Given the description of an element on the screen output the (x, y) to click on. 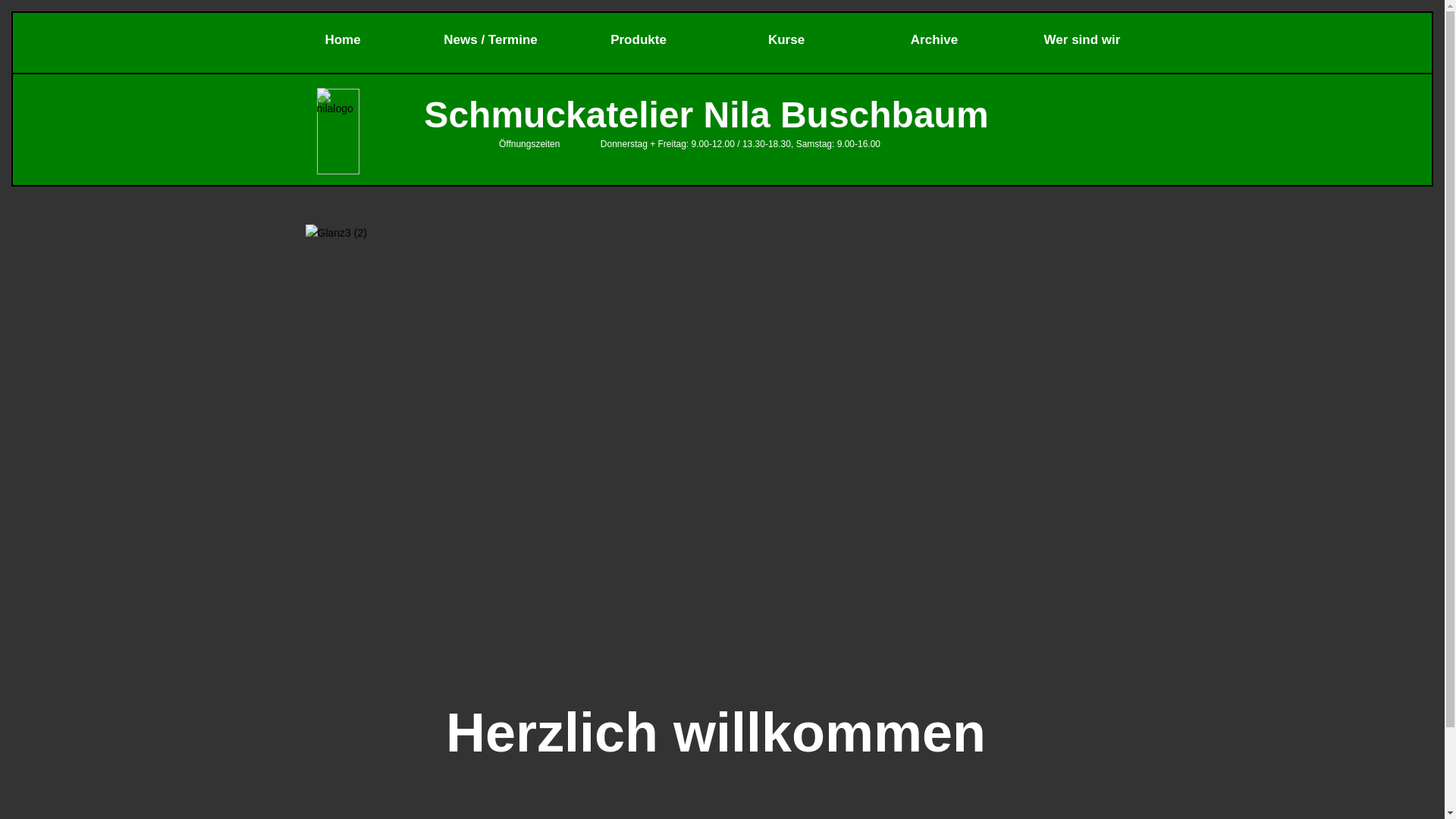
Produkte Element type: text (638, 38)
Home Element type: text (342, 38)
Kurse Element type: text (786, 38)
Archive Element type: text (933, 38)
Wer sind wir Element type: text (1082, 38)
News / Termine Element type: text (490, 38)
